Given the description of an element on the screen output the (x, y) to click on. 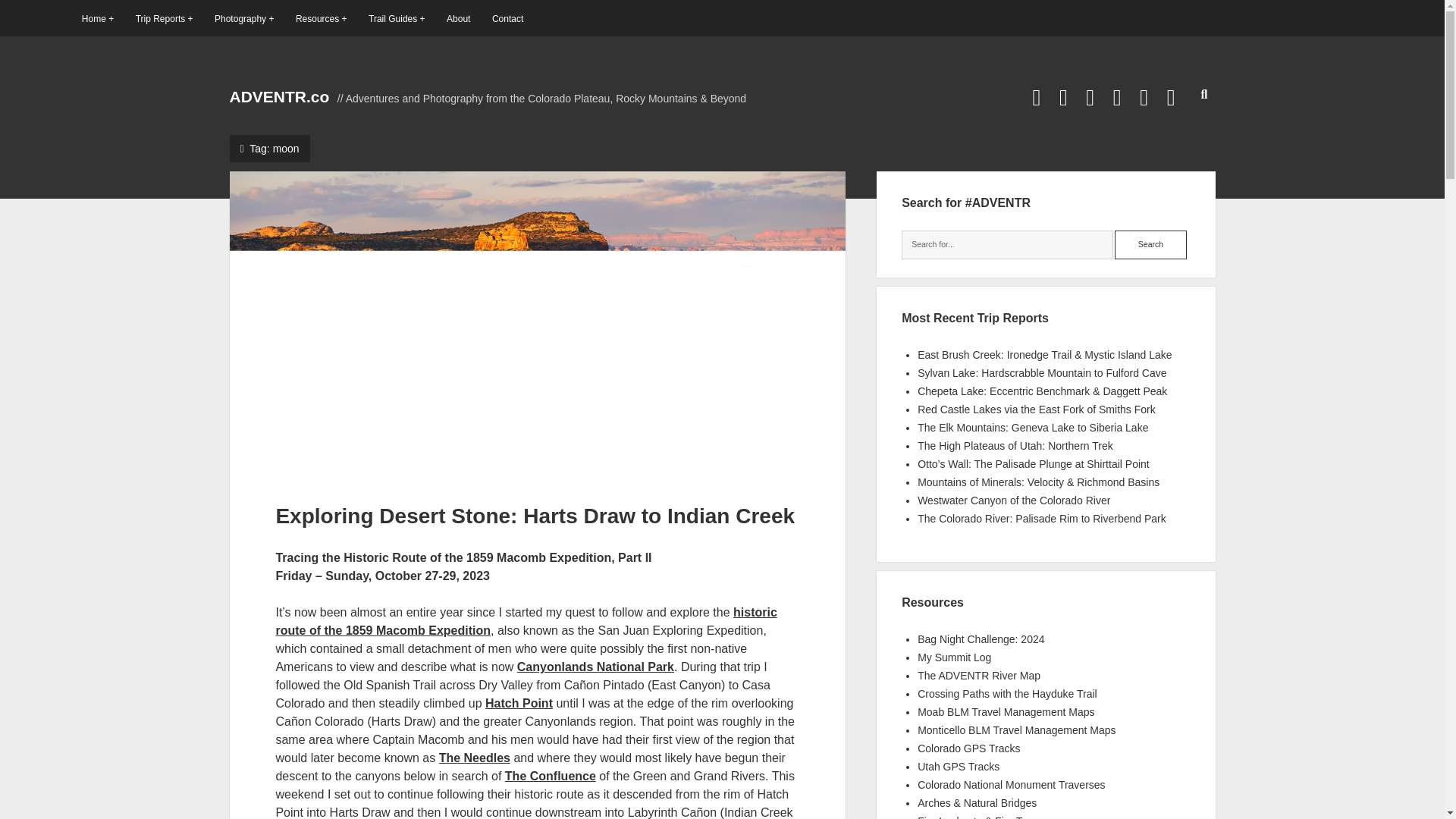
Trip Reports (164, 18)
Search (1150, 244)
Photography (243, 18)
Search (1150, 244)
About ADVENTR.co (458, 18)
Home (97, 18)
Contact (507, 18)
